Given the description of an element on the screen output the (x, y) to click on. 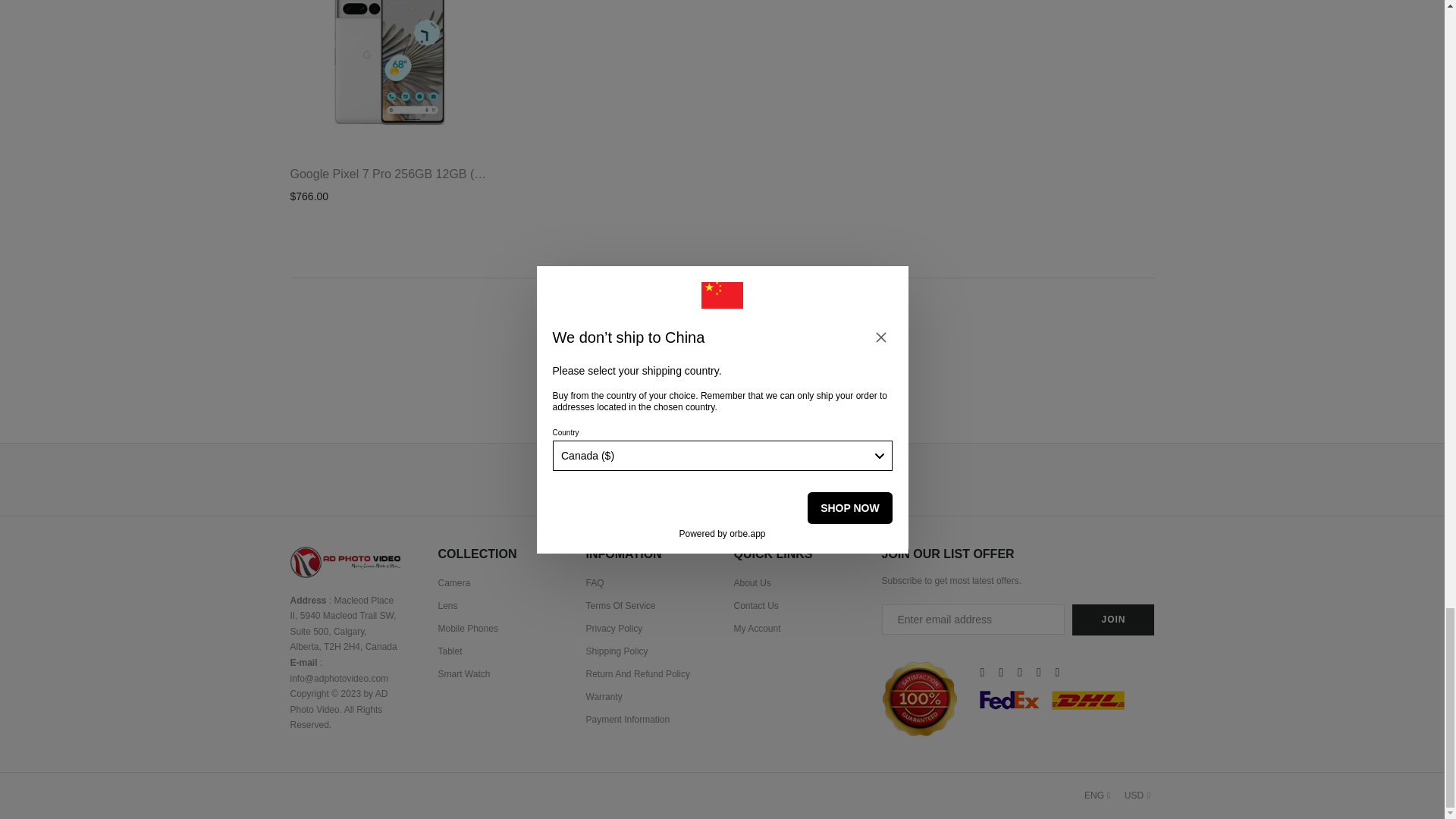
JOIN (1112, 619)
